Given the description of an element on the screen output the (x, y) to click on. 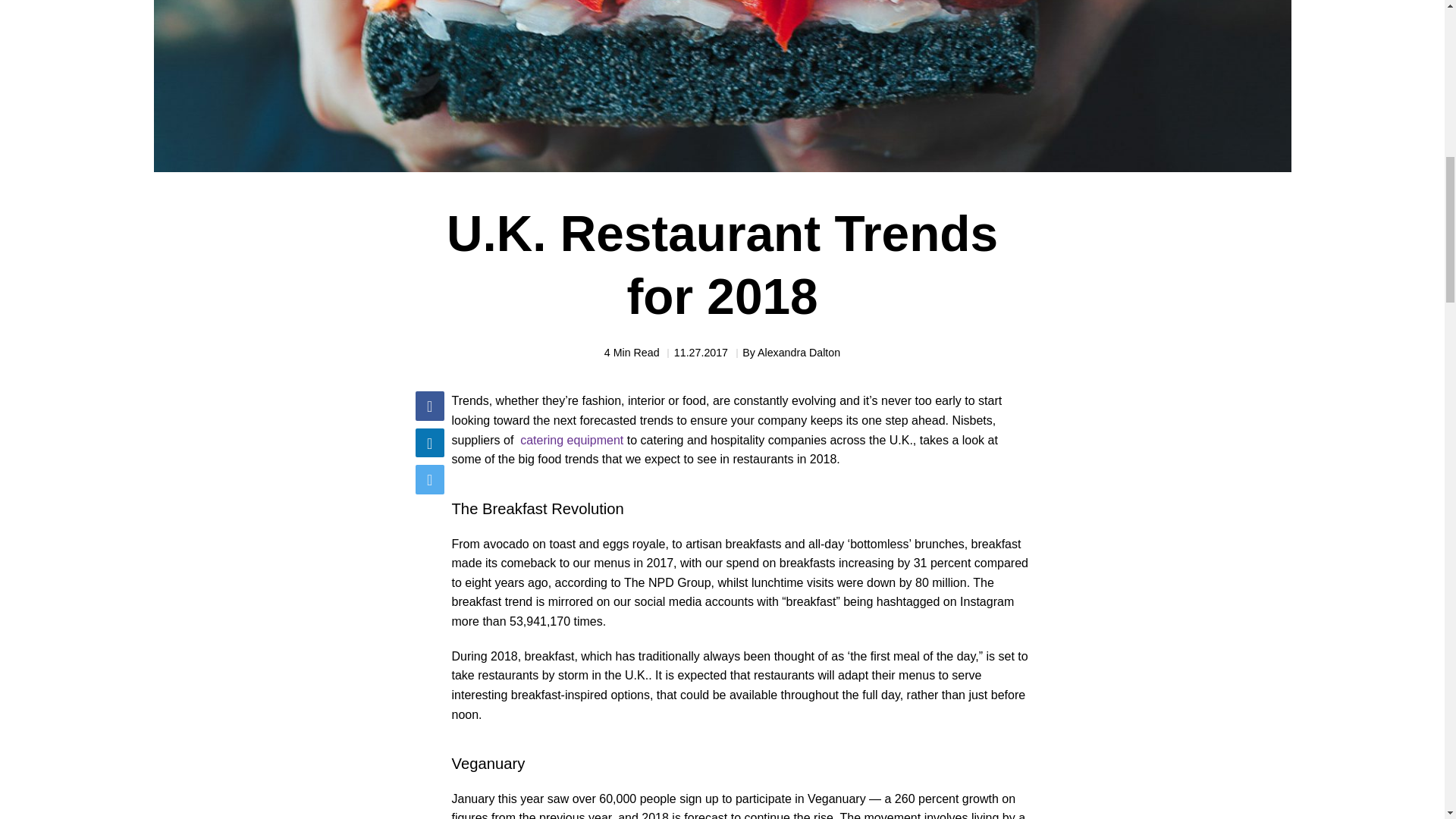
Share via LinkedIn (429, 442)
Share via Twitter (429, 479)
catering equipment (571, 440)
Share via Facebook (429, 405)
